Given the description of an element on the screen output the (x, y) to click on. 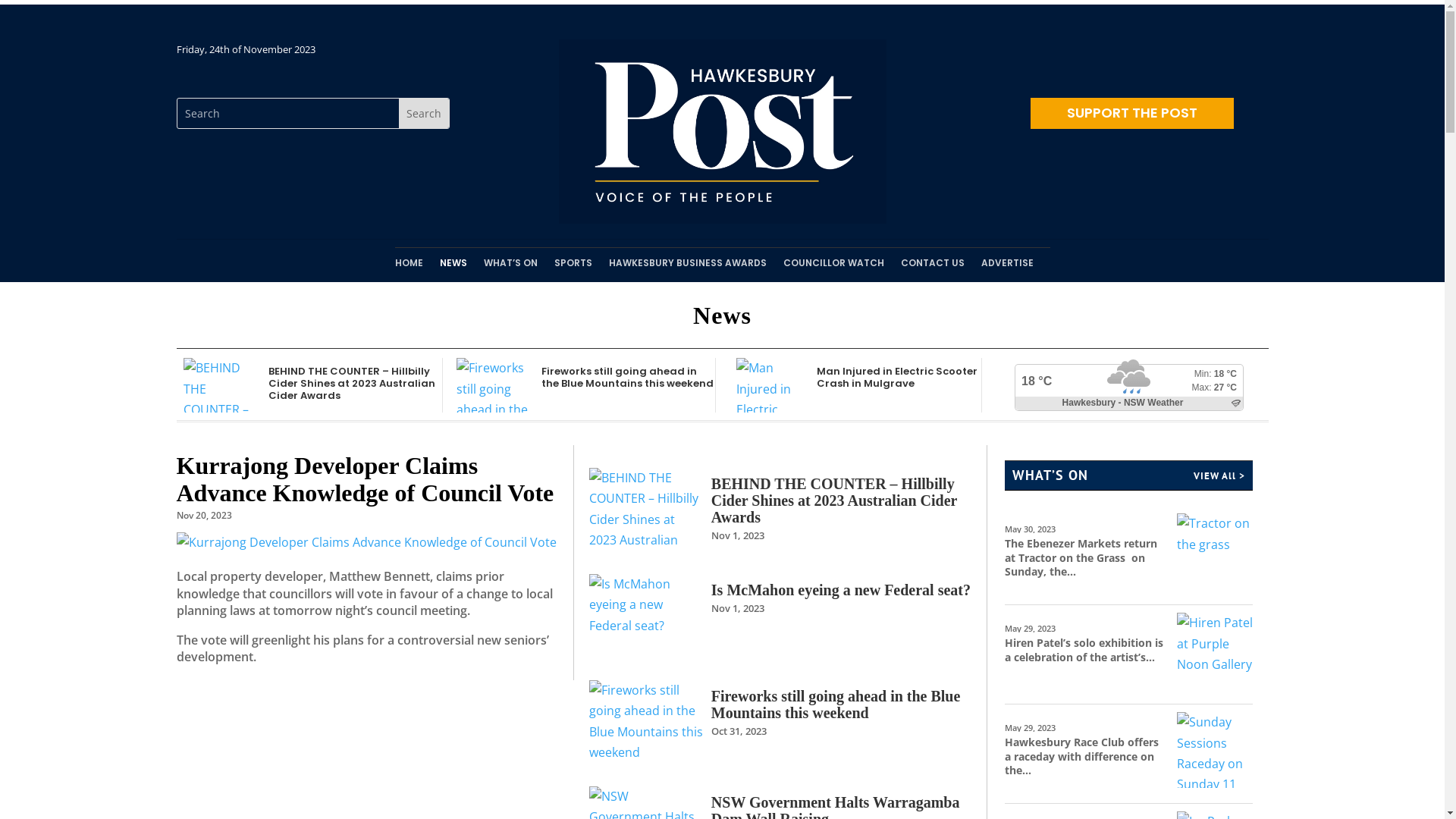
Kurrajong Developer Claims Advance Knowledge of Council Vote Element type: text (364, 478)
SPORTS Element type: text (572, 265)
CONTACT US Element type: text (932, 265)
Search Element type: text (423, 113)
Man Injured in Electric Scooter Crash in Mulgrave Element type: text (896, 377)
NEWS Element type: text (453, 265)
logo-w-yellowline Element type: hover (721, 131)
SUPPORT THE POST Element type: text (1131, 112)
Is McMahon eyeing a new Federal seat? Element type: text (840, 589)
HAWKESBURY BUSINESS AWARDS Element type: text (686, 265)
COUNCILLOR WATCH Element type: text (832, 265)
HOME Element type: text (408, 265)
hawkesbury river-windsor forecasts Element type: text (1141, 403)
ADVERTISE Element type: text (1007, 265)
